Given the description of an element on the screen output the (x, y) to click on. 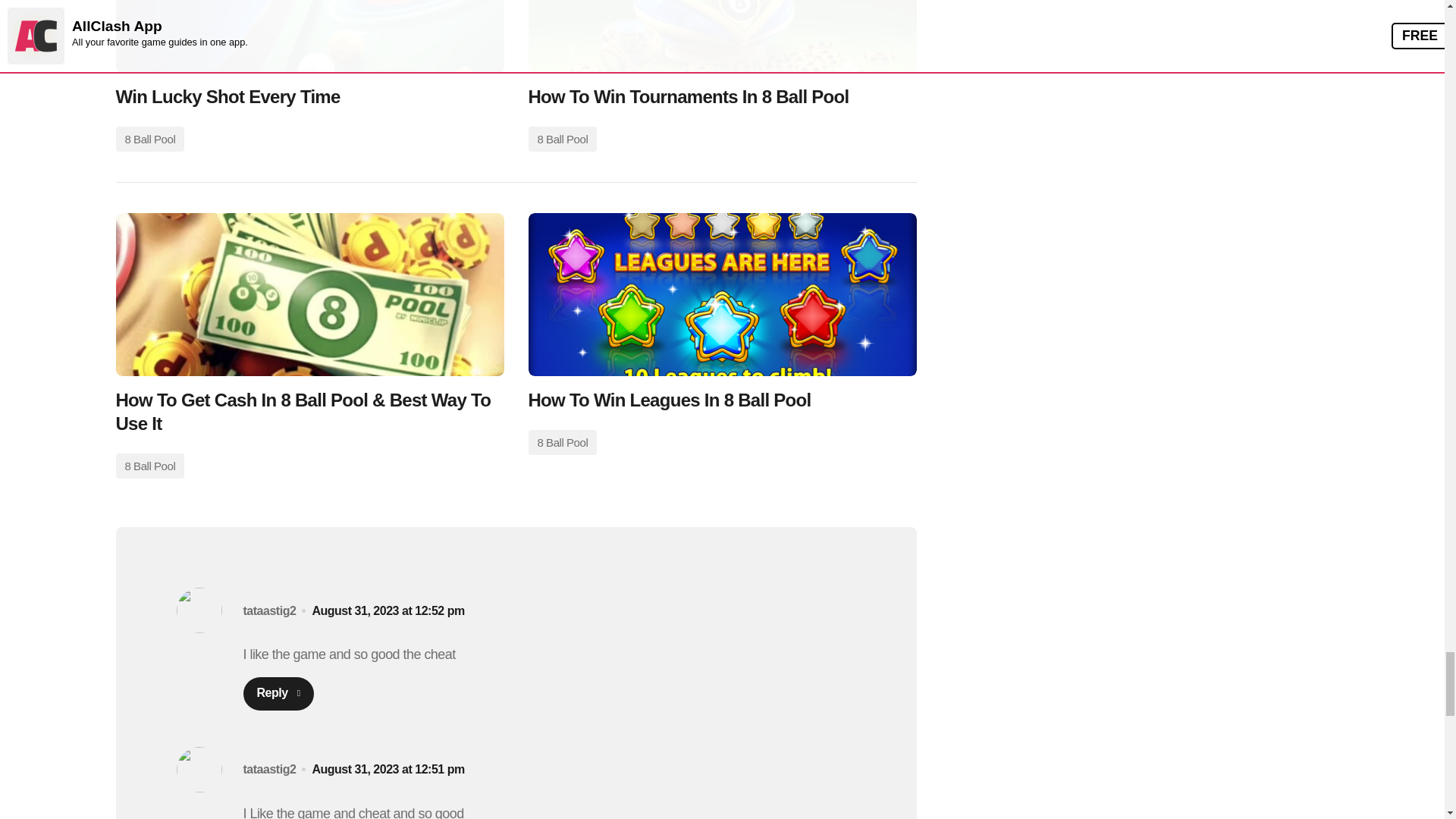
Win Lucky Shot Every Time (309, 36)
How To Win Tournaments In 8 Ball Pool (721, 36)
How To Win Leagues In 8 Ball Pool (721, 293)
